Given the description of an element on the screen output the (x, y) to click on. 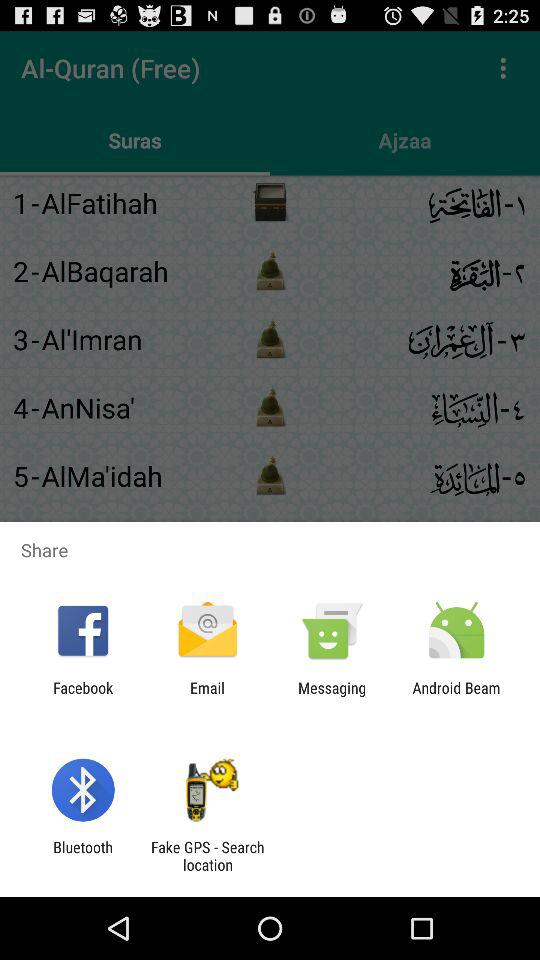
flip to the email icon (207, 696)
